Given the description of an element on the screen output the (x, y) to click on. 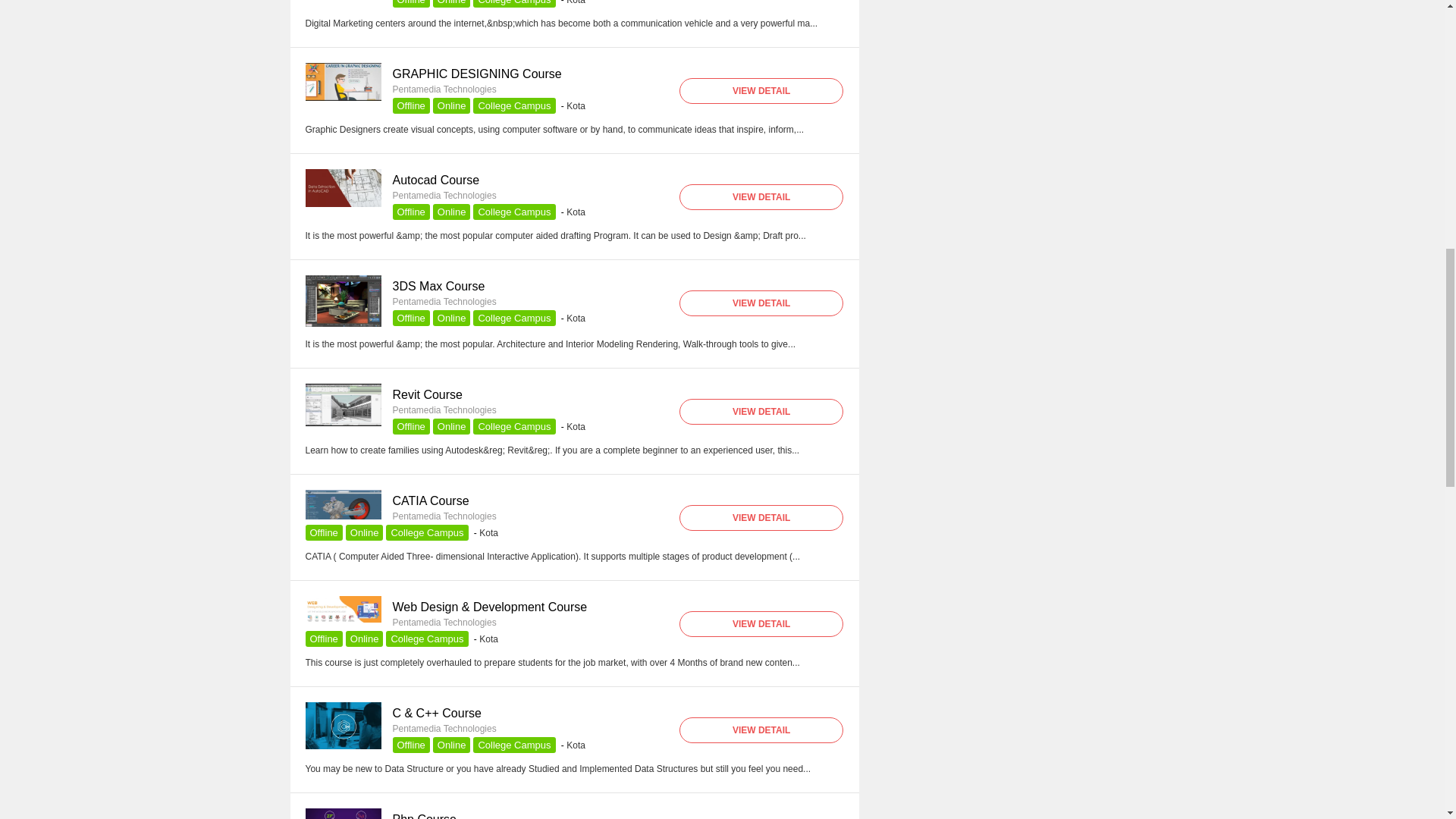
Offline (411, 3)
Online (451, 105)
GRAPHIC DESIGNING Course (477, 73)
Autocad Course (436, 179)
Offline (411, 105)
Autocad Course (342, 204)
GRAPHIC DESIGNING Course (477, 73)
Pentamedia Technologies (444, 195)
GRAPHIC DESIGNING Course (342, 97)
Autocad Course (436, 179)
Pentamedia Technologies (444, 89)
College Campus (513, 105)
College Campus (513, 3)
Pentamedia Technologies (444, 89)
GRAPHIC DESIGNING Course (342, 81)
